Given the description of an element on the screen output the (x, y) to click on. 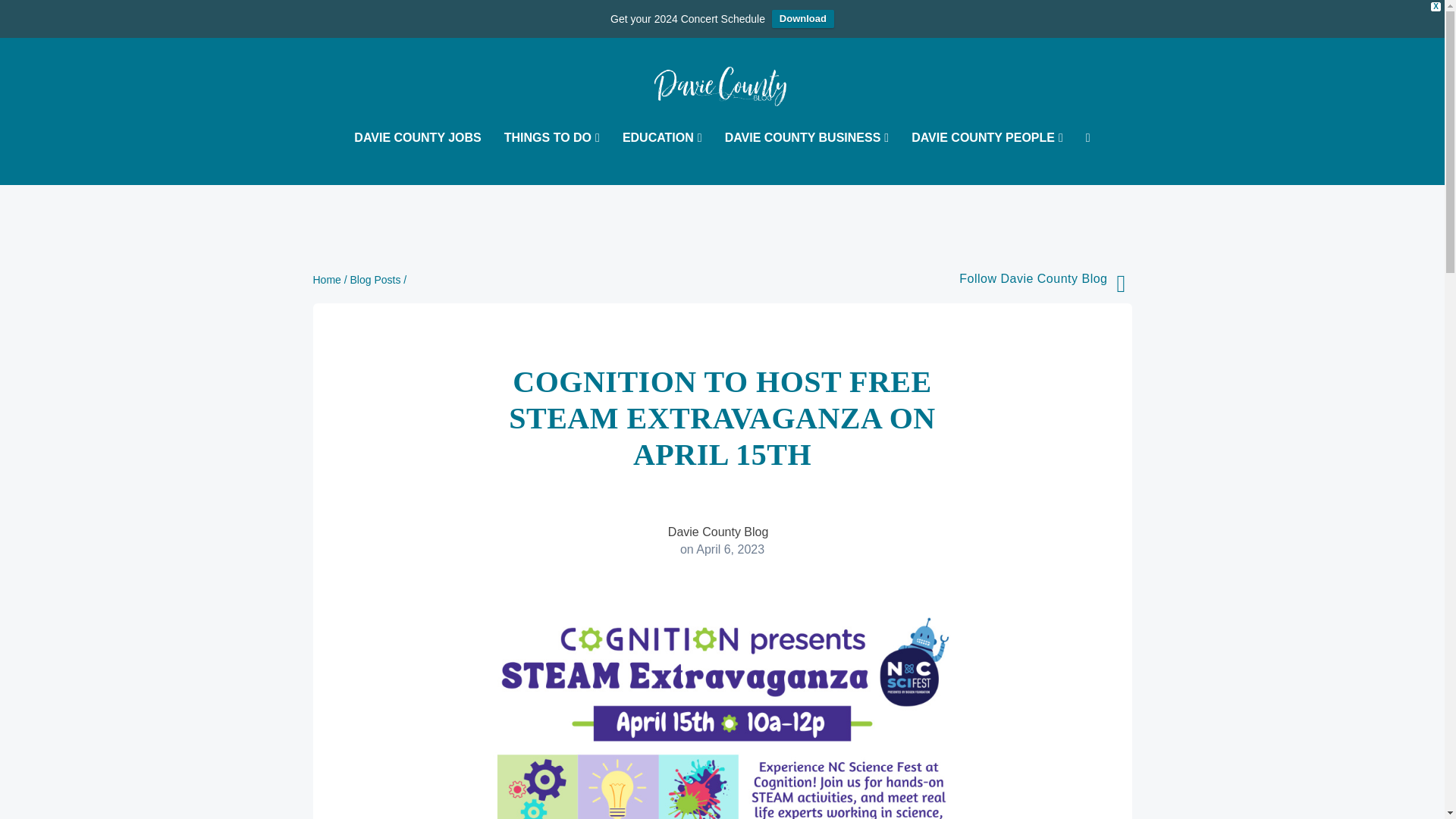
DAVIE COUNTY JOBS (416, 158)
DAVIE COUNTY PEOPLE (986, 158)
Davie County Blog (718, 531)
THINGS TO DO (551, 158)
Follow Davie County Blog (1032, 278)
EDUCATION (662, 158)
Home (326, 279)
DAVIE COUNTY BUSINESS (807, 158)
Blog Posts (375, 279)
Download (802, 18)
